Given the description of an element on the screen output the (x, y) to click on. 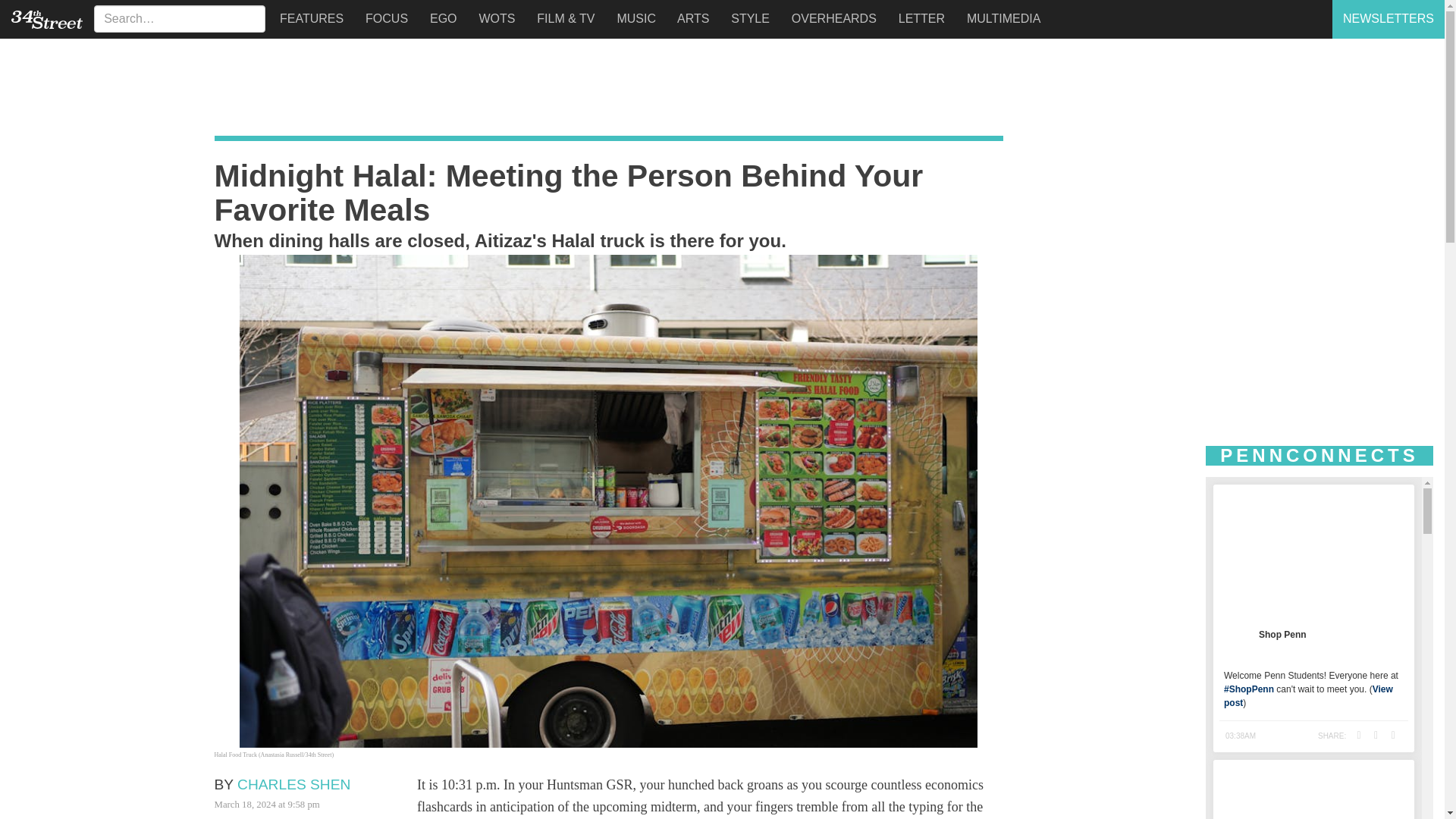
  MUSIC (632, 18)
  WOTS (493, 18)
  LETTER (917, 18)
  ARTS (689, 18)
  FEATURES (307, 18)
CHARLES SHEN (293, 784)
  FOCUS (382, 18)
  STYLE (746, 18)
  EGO (439, 18)
  MULTIMEDIA (1000, 18)
